Given the description of an element on the screen output the (x, y) to click on. 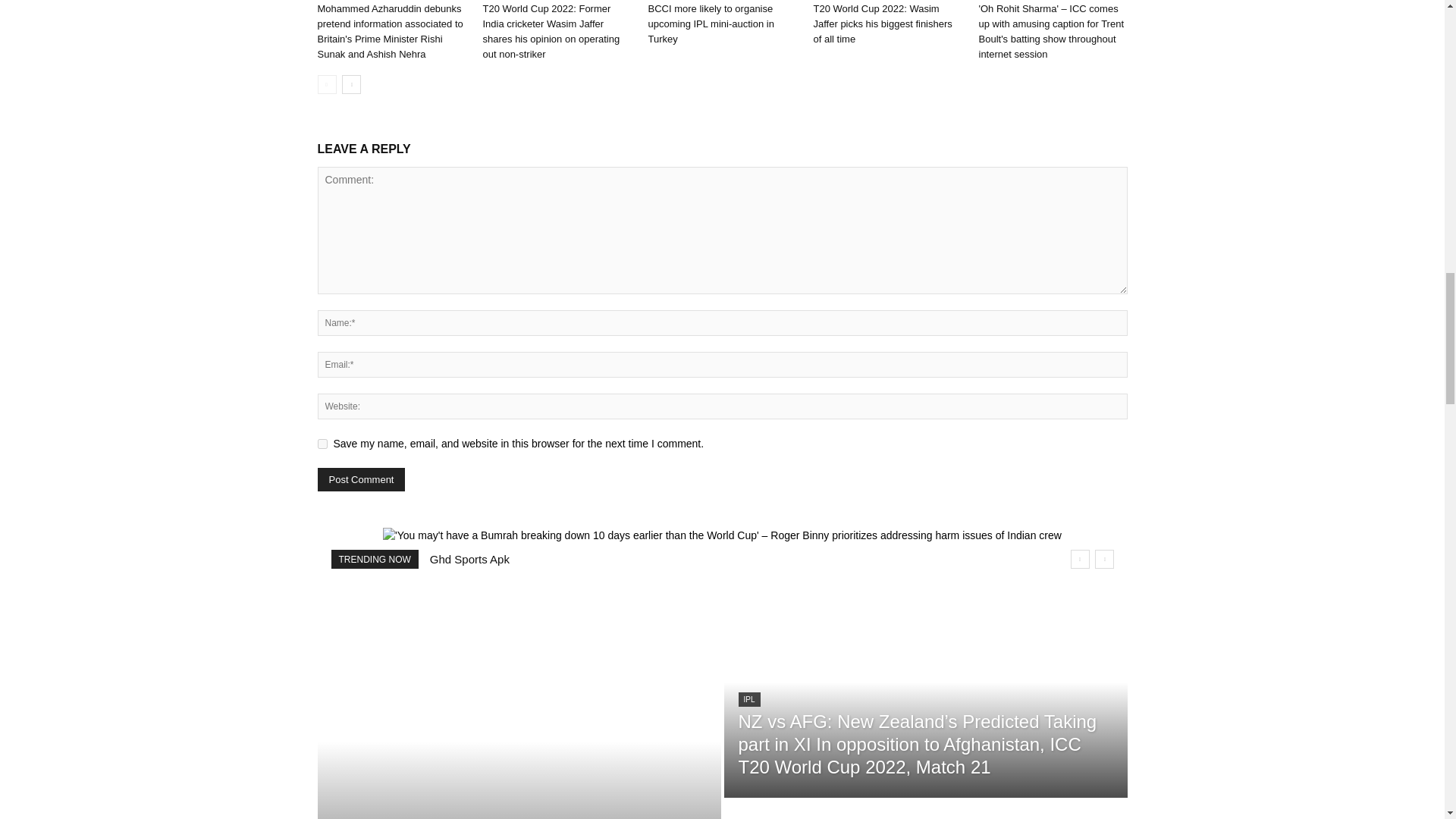
yes (321, 443)
Post Comment (360, 479)
